Given the description of an element on the screen output the (x, y) to click on. 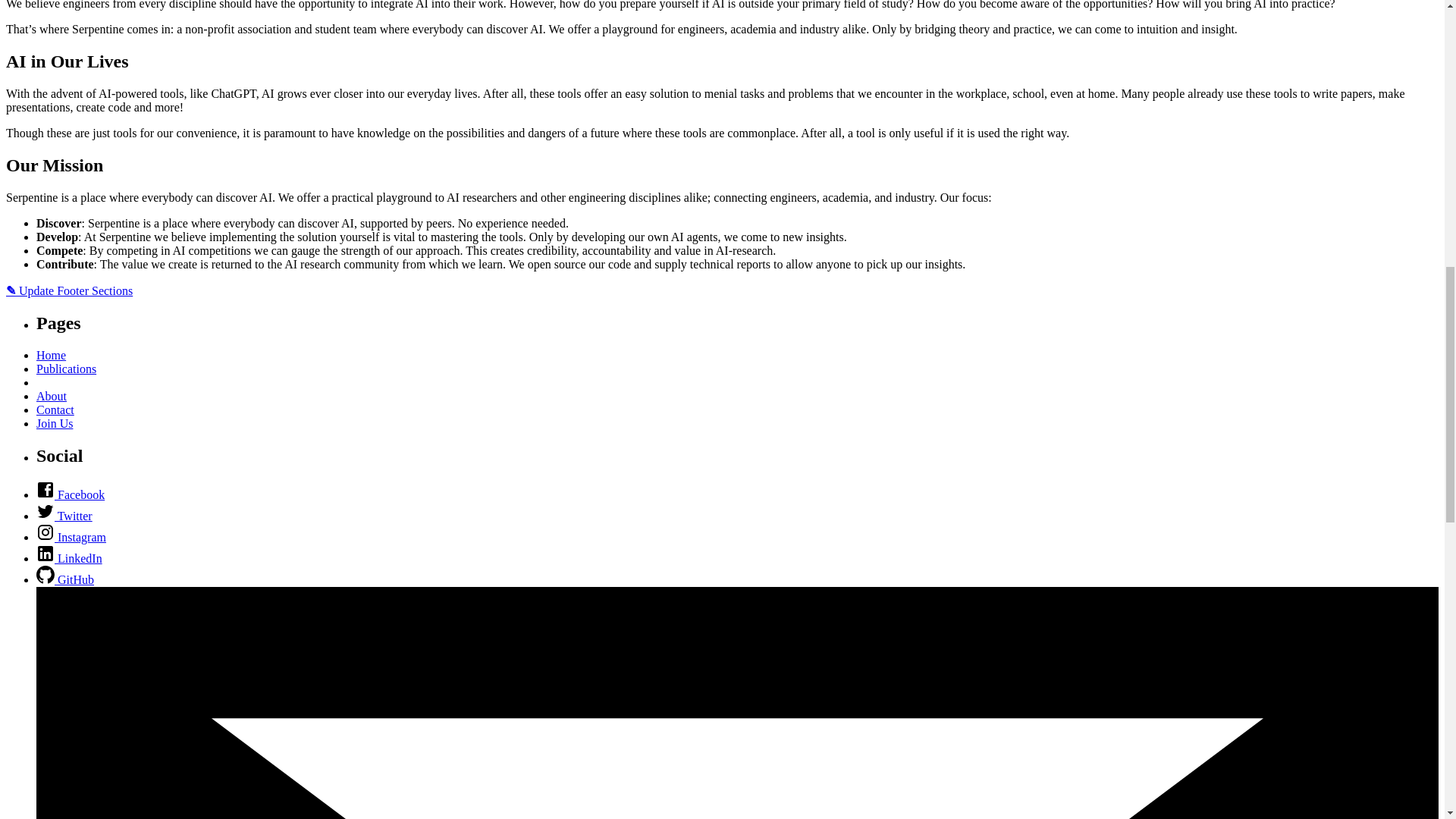
Home (50, 354)
Join Us (54, 422)
Contact (55, 409)
About (51, 395)
Instagram (71, 536)
Publications (66, 368)
Facebook (70, 494)
GitHub (65, 579)
LinkedIn (68, 558)
Twitter (64, 515)
